Given the description of an element on the screen output the (x, y) to click on. 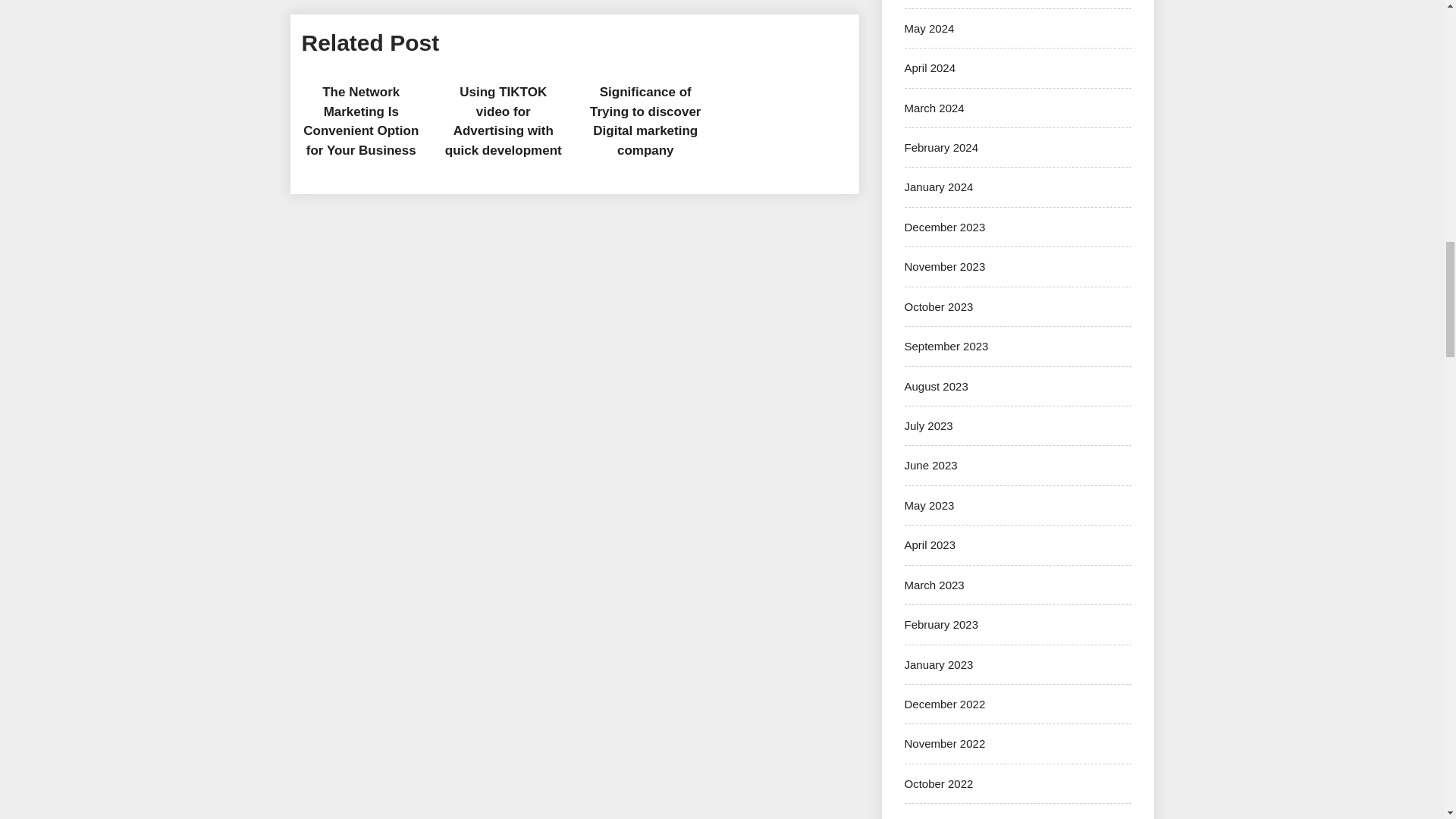
January 2024 (938, 186)
May 2024 (928, 28)
February 2024 (941, 146)
Significance of Trying to discover Digital marketing company (644, 121)
Using TIKTOK video for Advertising with quick development (503, 121)
March 2024 (933, 107)
December 2023 (944, 226)
April 2024 (929, 67)
The Network Marketing Is Convenient Option for Your Business (360, 121)
